Given the description of an element on the screen output the (x, y) to click on. 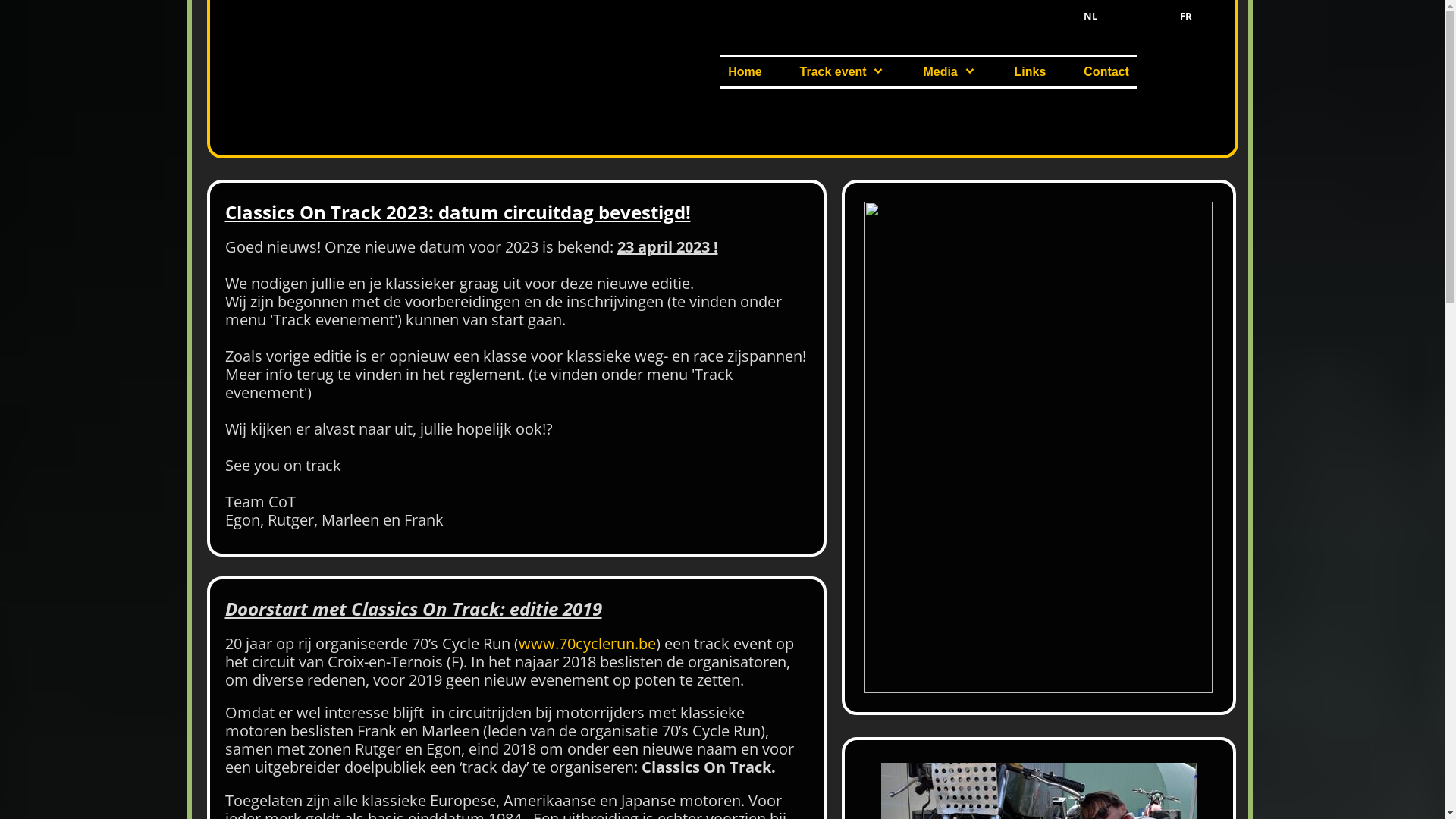
Home Element type: text (744, 71)
Media Element type: text (949, 71)
www.70cyclerun.be Element type: text (586, 643)
Links Element type: text (1030, 71)
Track event Element type: text (842, 71)
Contact Element type: text (1106, 71)
